Given the description of an element on the screen output the (x, y) to click on. 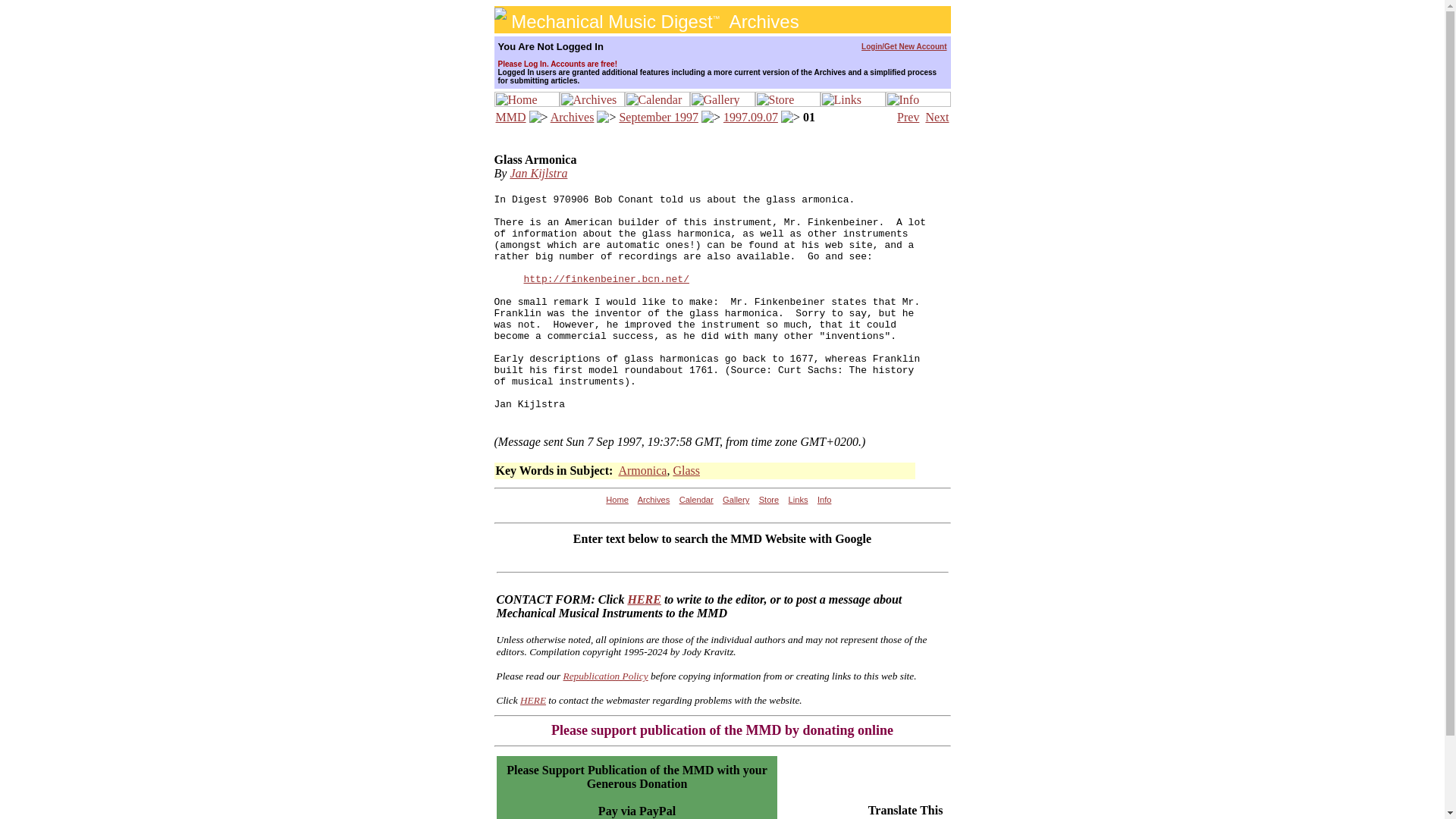
Next (936, 116)
Calendar (696, 499)
Prev (907, 116)
HERE (532, 699)
Archives (572, 116)
Jan Kijlstra (538, 173)
Archives (653, 499)
Store (768, 499)
HERE (644, 599)
Armonica (641, 470)
Gallery (735, 499)
Republication Policy (604, 675)
September 1997 (657, 116)
Links (798, 499)
Glass (686, 470)
